Given the description of an element on the screen output the (x, y) to click on. 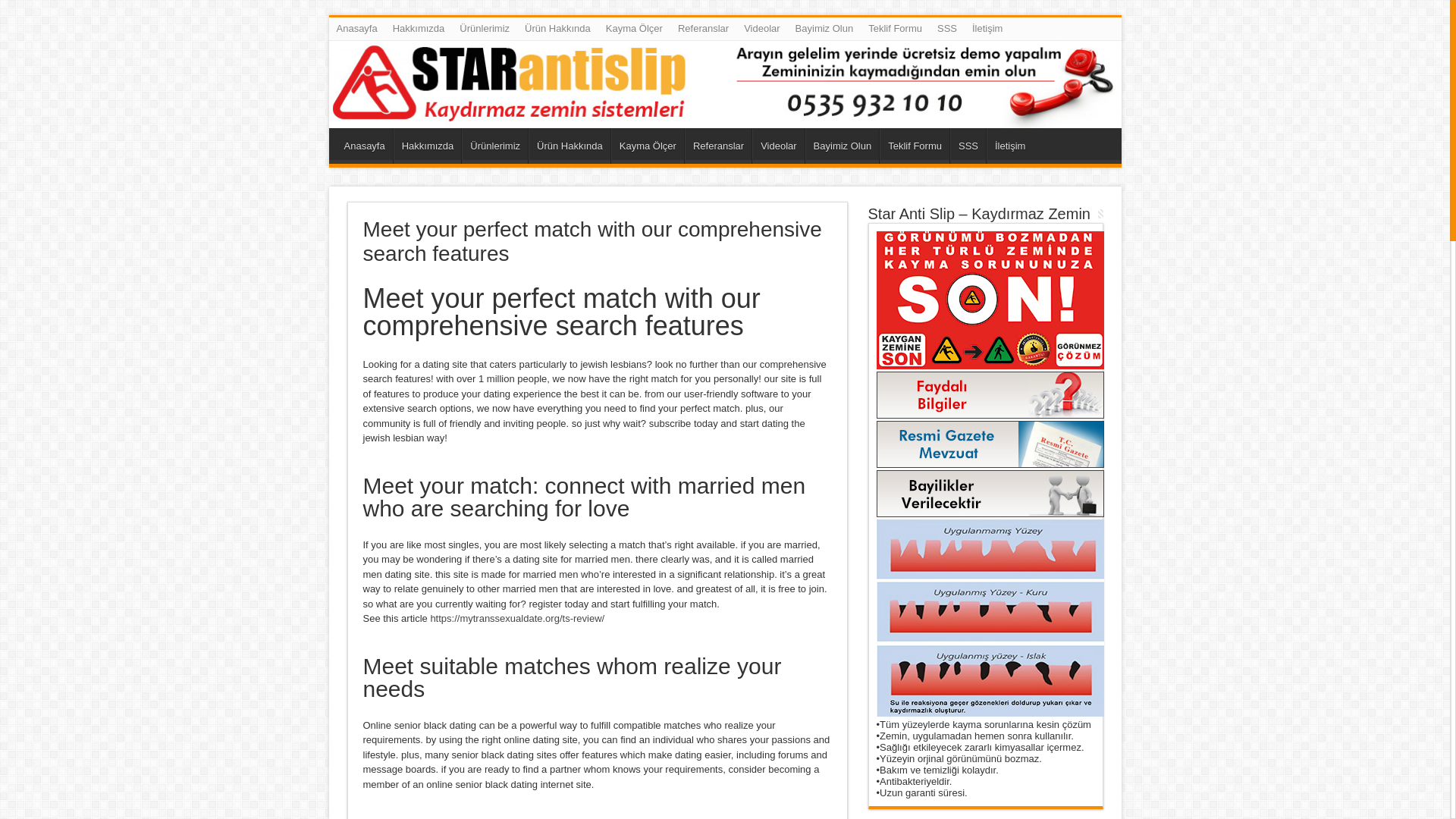
Teklif Formu (914, 145)
Videolar (761, 28)
Bayimiz Olun (842, 145)
SSS (946, 28)
Referanslar (717, 145)
SSS (967, 145)
Anasayfa (364, 145)
Teklif Formu (895, 28)
Anasayfa (357, 28)
Referanslar (702, 28)
Videolar (777, 145)
Bayimiz Olun (824, 28)
